Given the description of an element on the screen output the (x, y) to click on. 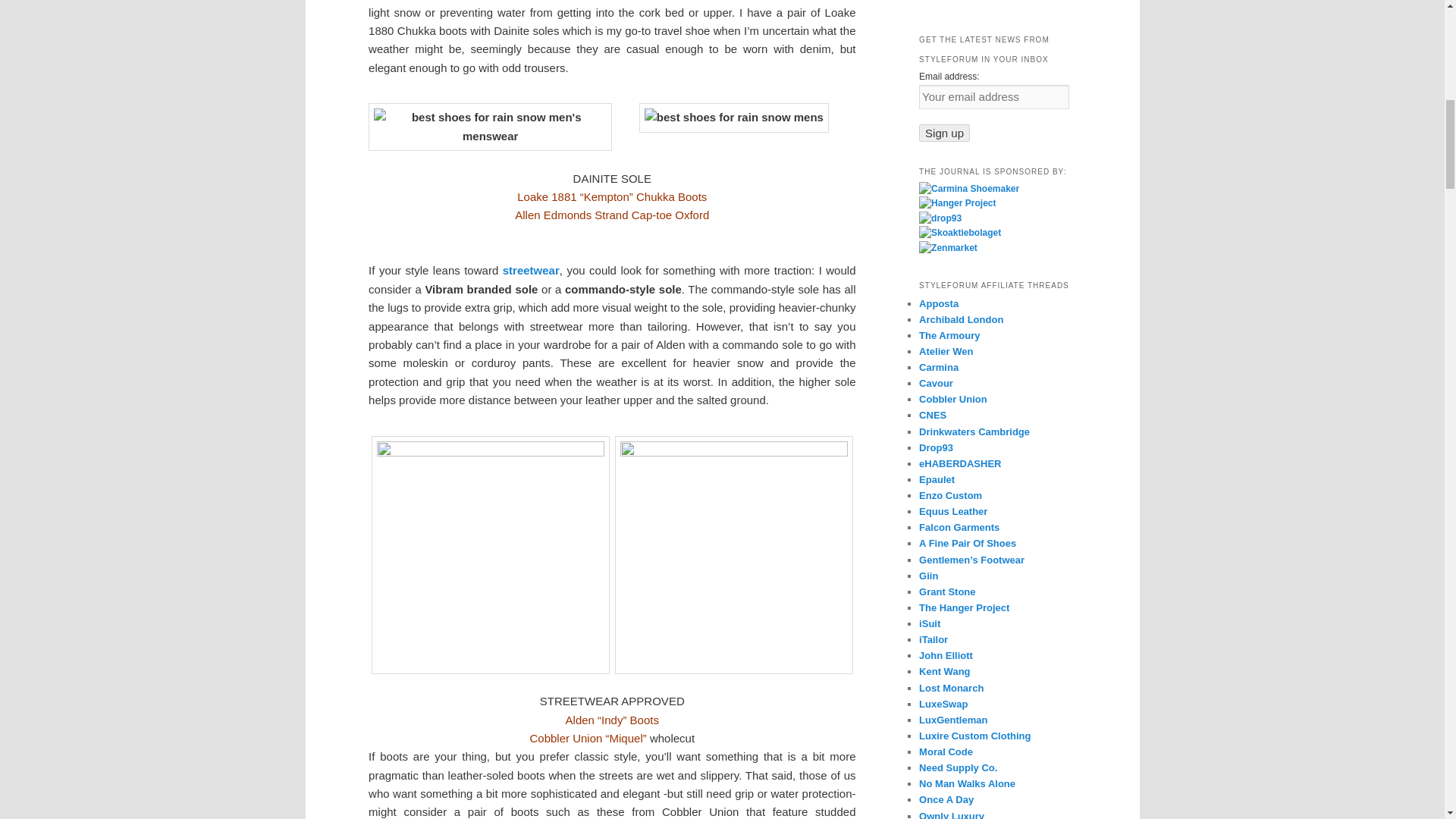
Sign up (943, 132)
Strand Cap-toe Oxford (651, 214)
streetwear (530, 269)
Loake 1881 (546, 196)
Allen Edmonds (553, 214)
